Given the description of an element on the screen output the (x, y) to click on. 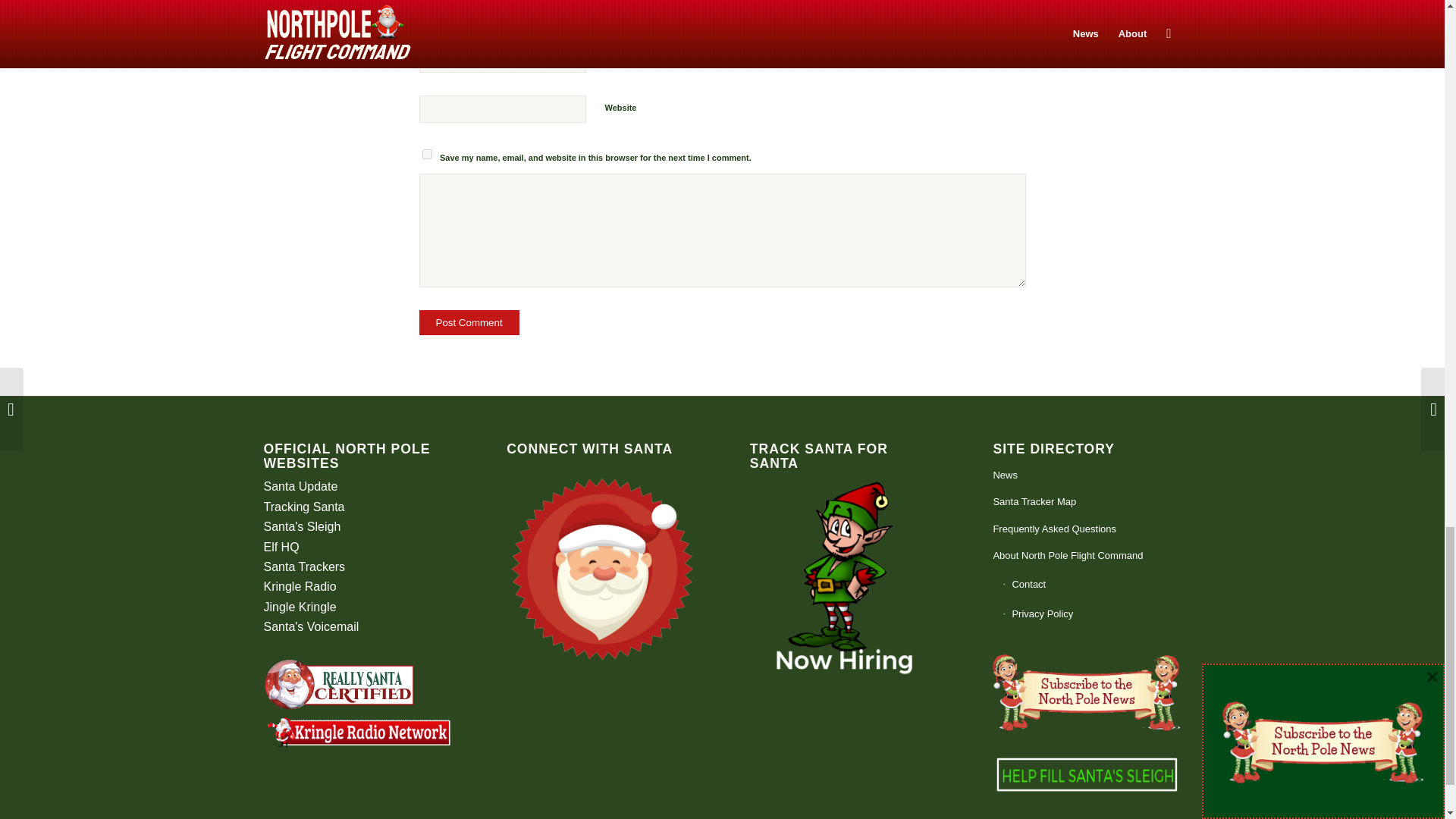
yes (426, 153)
Post Comment (468, 322)
Santa Update (300, 486)
Post Comment (468, 322)
